Given the description of an element on the screen output the (x, y) to click on. 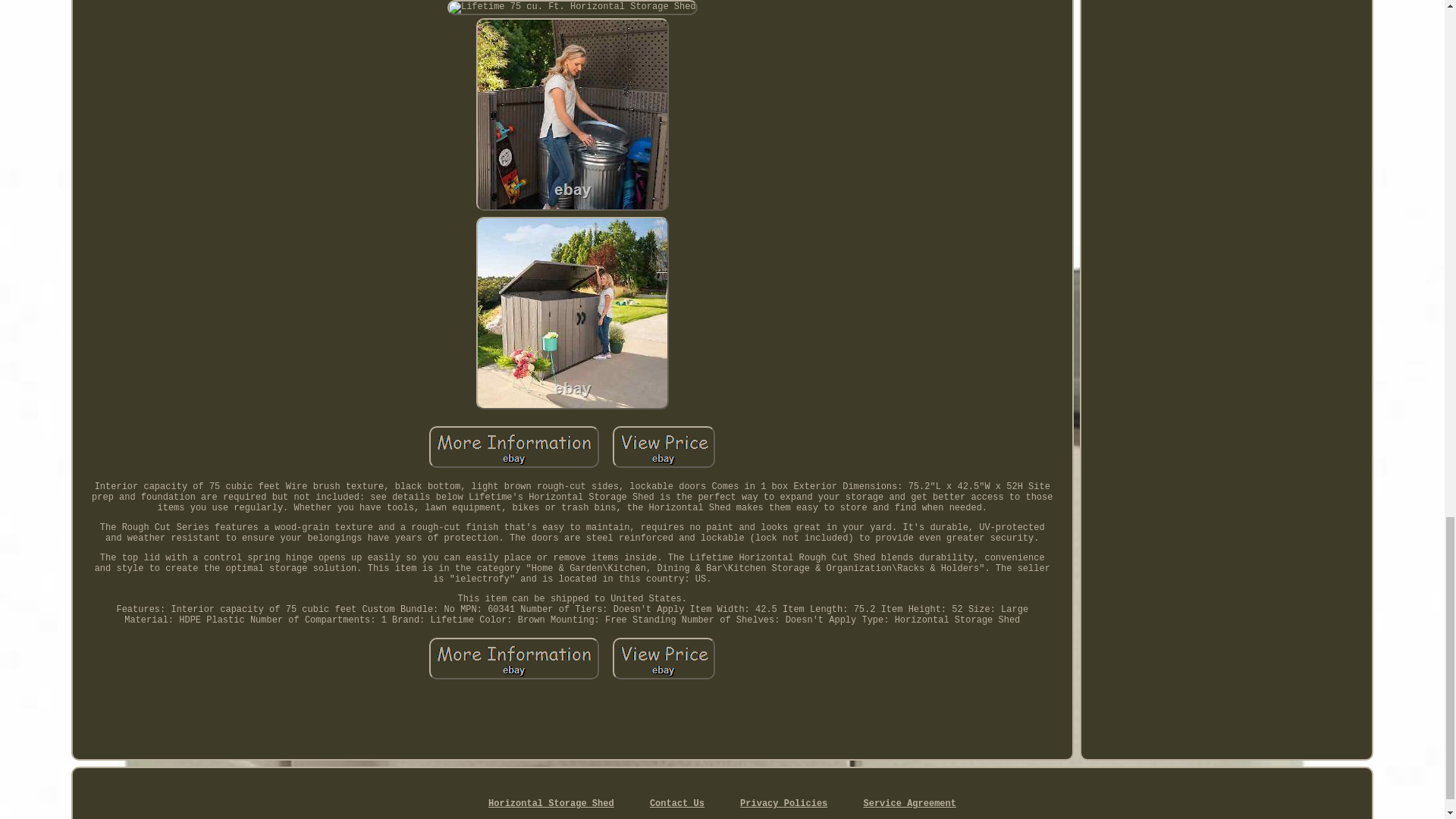
Lifetime 75 cu. Ft. Horizontal Storage Shed (572, 114)
Lifetime 75 cu. Ft. Horizontal Storage Shed (513, 446)
Lifetime 75 cu. Ft. Horizontal Storage Shed (663, 446)
Lifetime 75 cu. Ft. Horizontal Storage Shed (572, 313)
Lifetime 75 cu. Ft. Horizontal Storage Shed (571, 7)
Lifetime 75 cu. Ft. Horizontal Storage Shed (663, 658)
Lifetime 75 cu. Ft. Horizontal Storage Shed (513, 658)
